Given the description of an element on the screen output the (x, y) to click on. 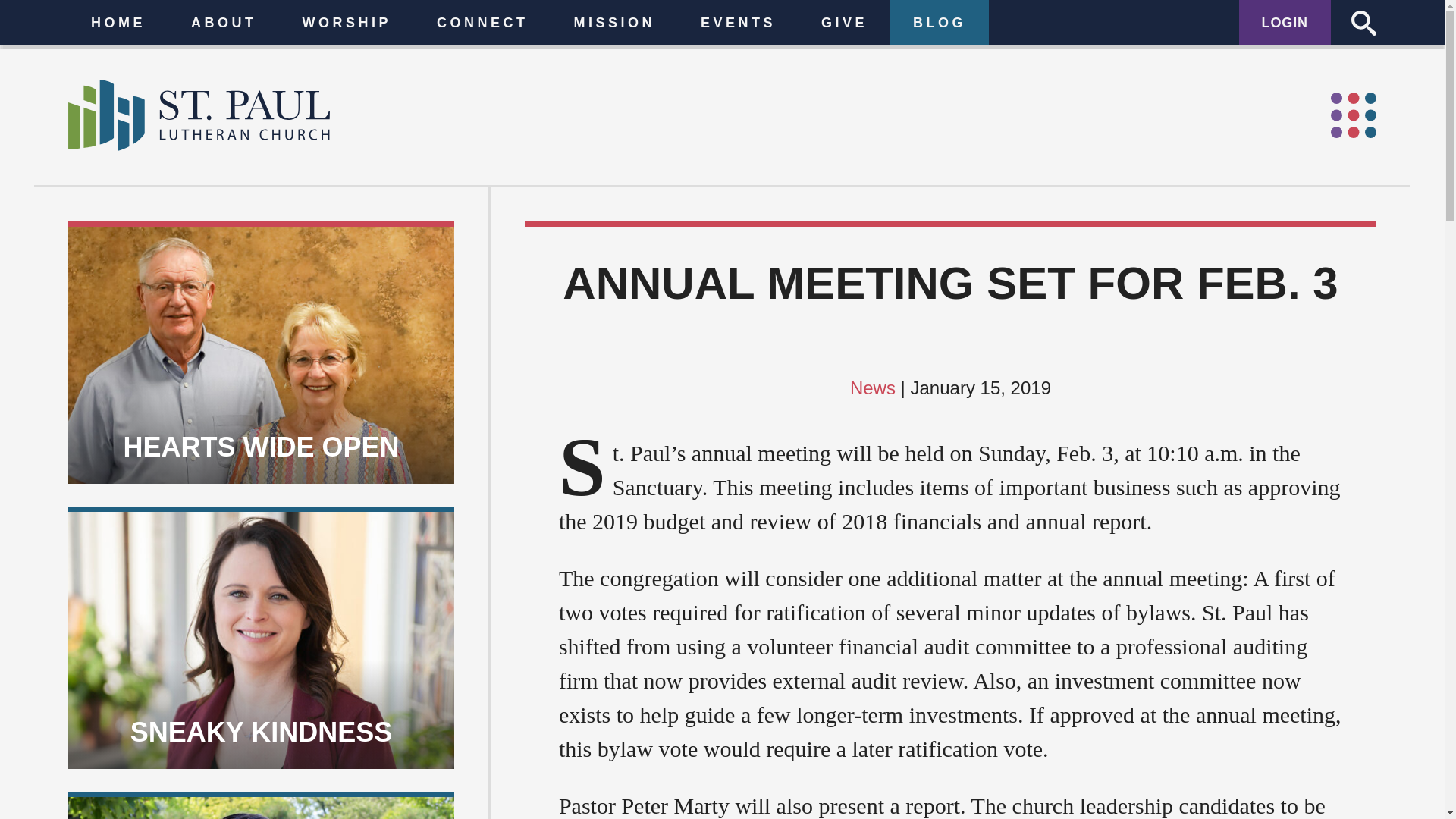
WORSHIP (231, 15)
Share via Facebook (615, 749)
ABOUT (149, 15)
CONNECT (321, 15)
HOME (78, 15)
Share via Email (579, 749)
Share via Pinterest (688, 749)
Share via Twitter (651, 749)
